Given the description of an element on the screen output the (x, y) to click on. 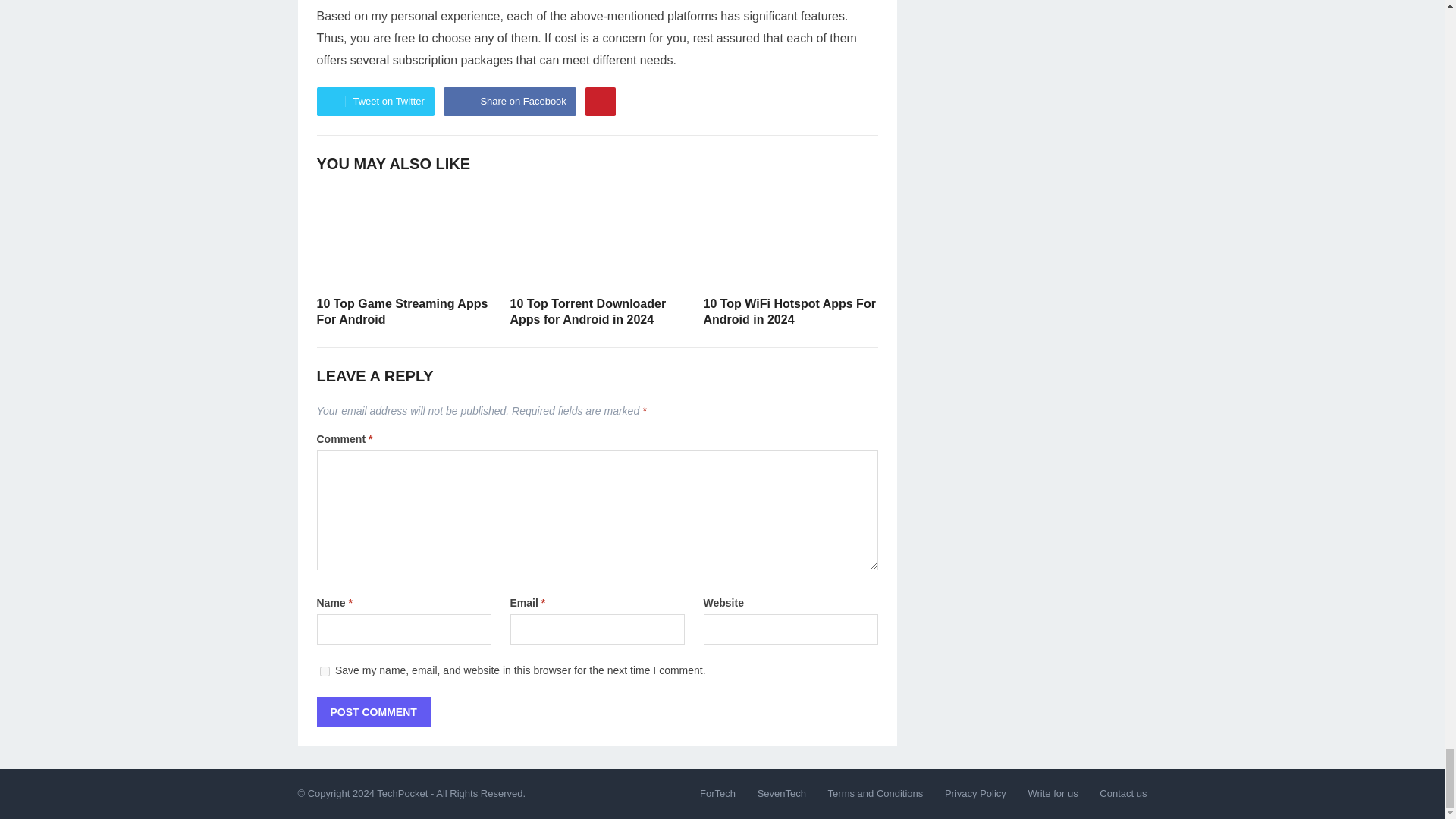
Post Comment (373, 711)
yes (325, 671)
